Given the description of an element on the screen output the (x, y) to click on. 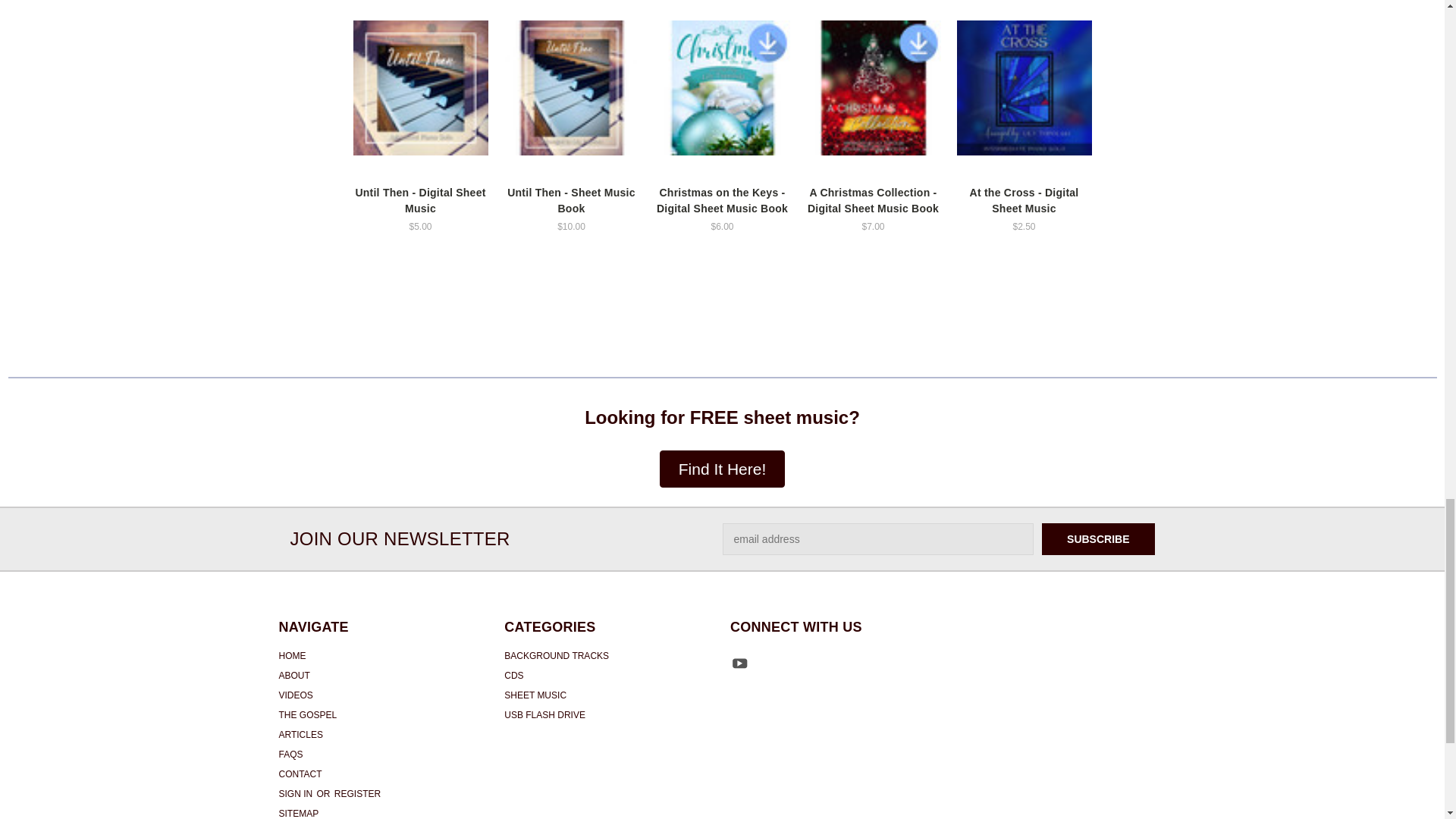
Until Then - Advanced Piano Solo Sheet Music (420, 87)
Until Then - Sheet Music Book (571, 87)
Subscribe (1098, 539)
